Given the description of an element on the screen output the (x, y) to click on. 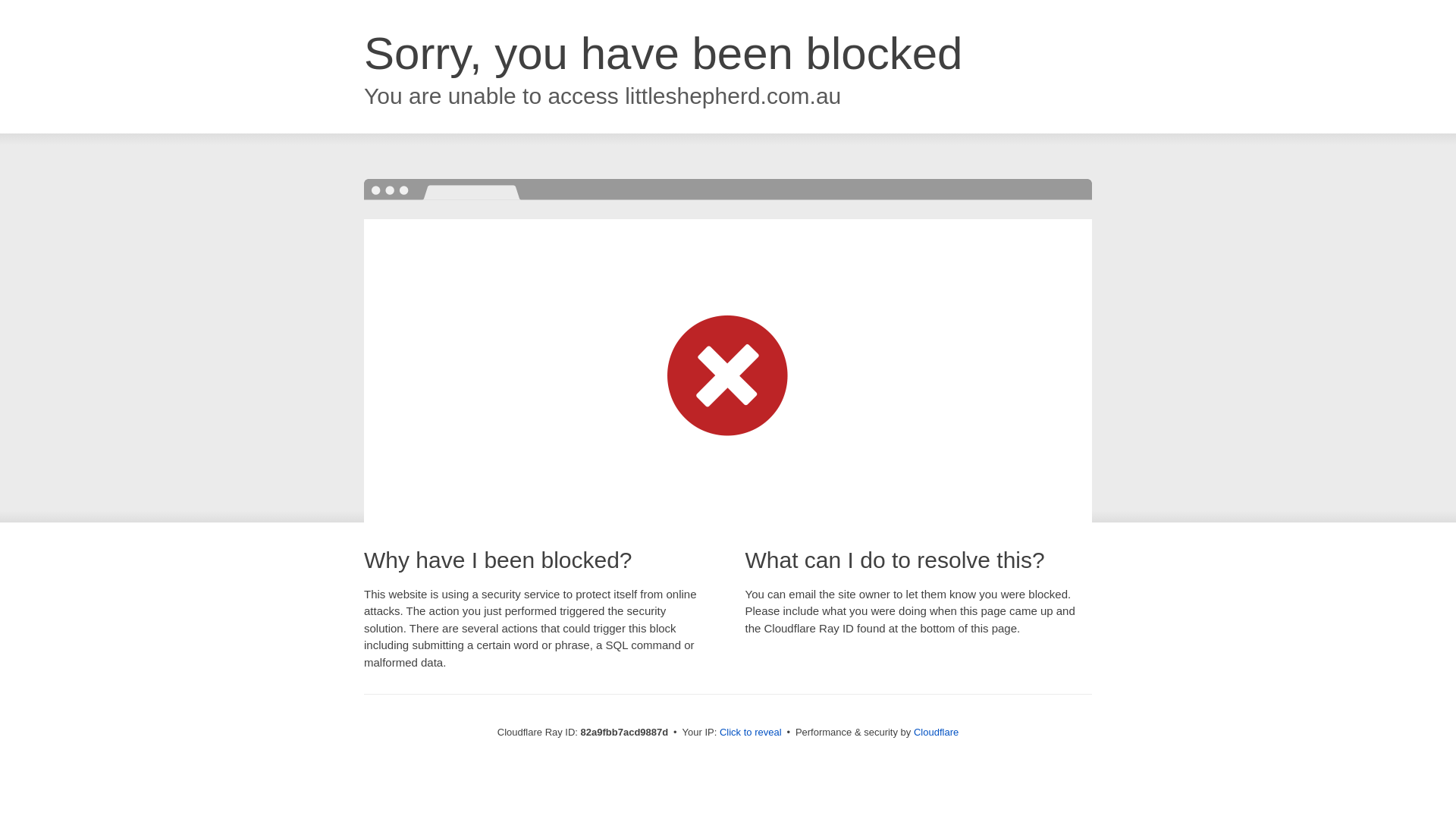
Click to reveal Element type: text (750, 732)
Cloudflare Element type: text (935, 731)
